Given the description of an element on the screen output the (x, y) to click on. 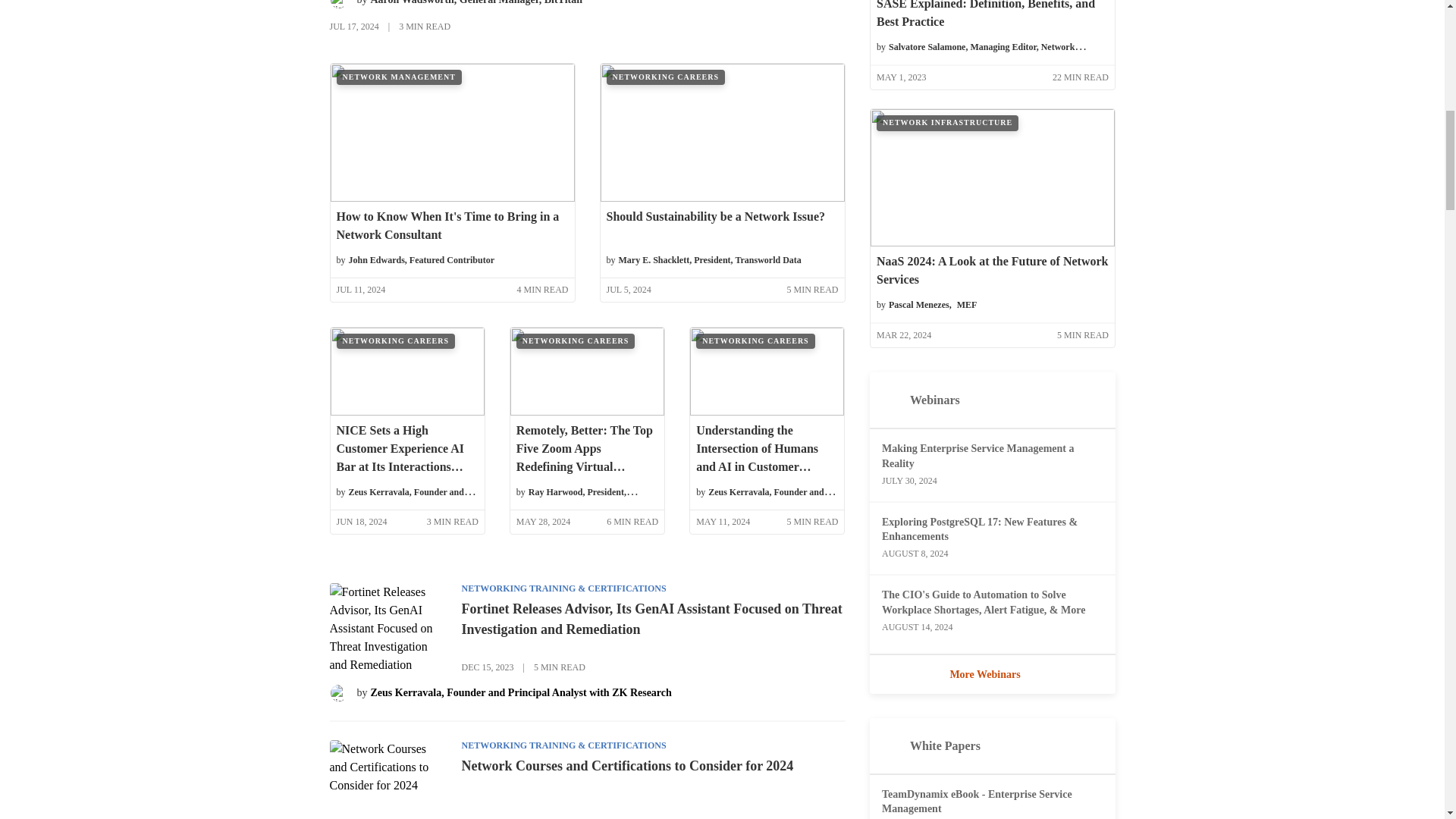
Picture of Aaron Wadsworth, General Manager, BitTitan (338, 4)
